Given the description of an element on the screen output the (x, y) to click on. 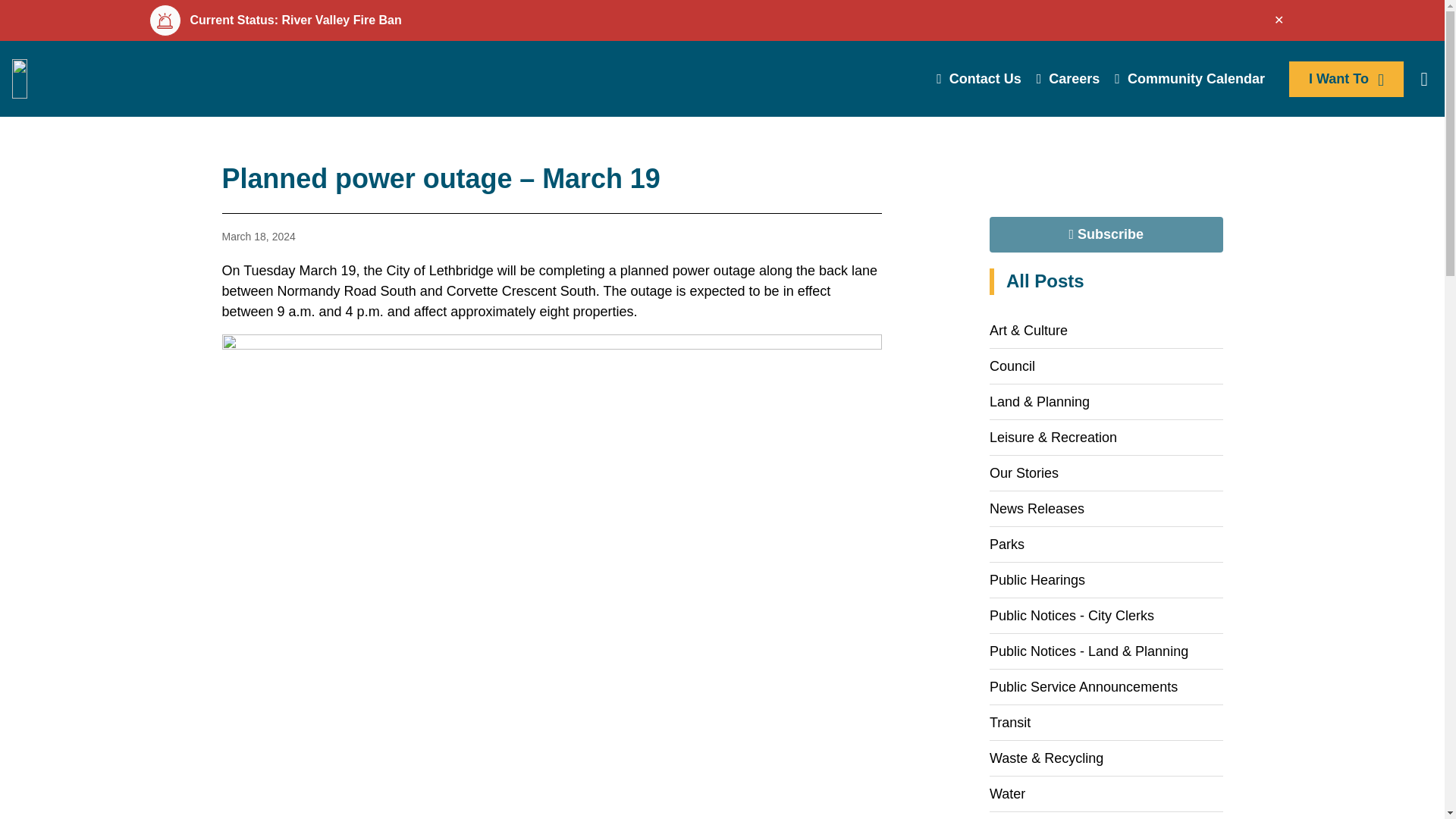
Close alert (1278, 20)
Council (1106, 366)
Road and Facility Closures (1106, 816)
News Releases (1106, 508)
I Want To (1345, 78)
Contact Us (978, 78)
Our Stories (1106, 472)
Current Status: River Valley Fire Ban (720, 20)
Public Service Announcements (1106, 686)
Careers (1068, 78)
